Given the description of an element on the screen output the (x, y) to click on. 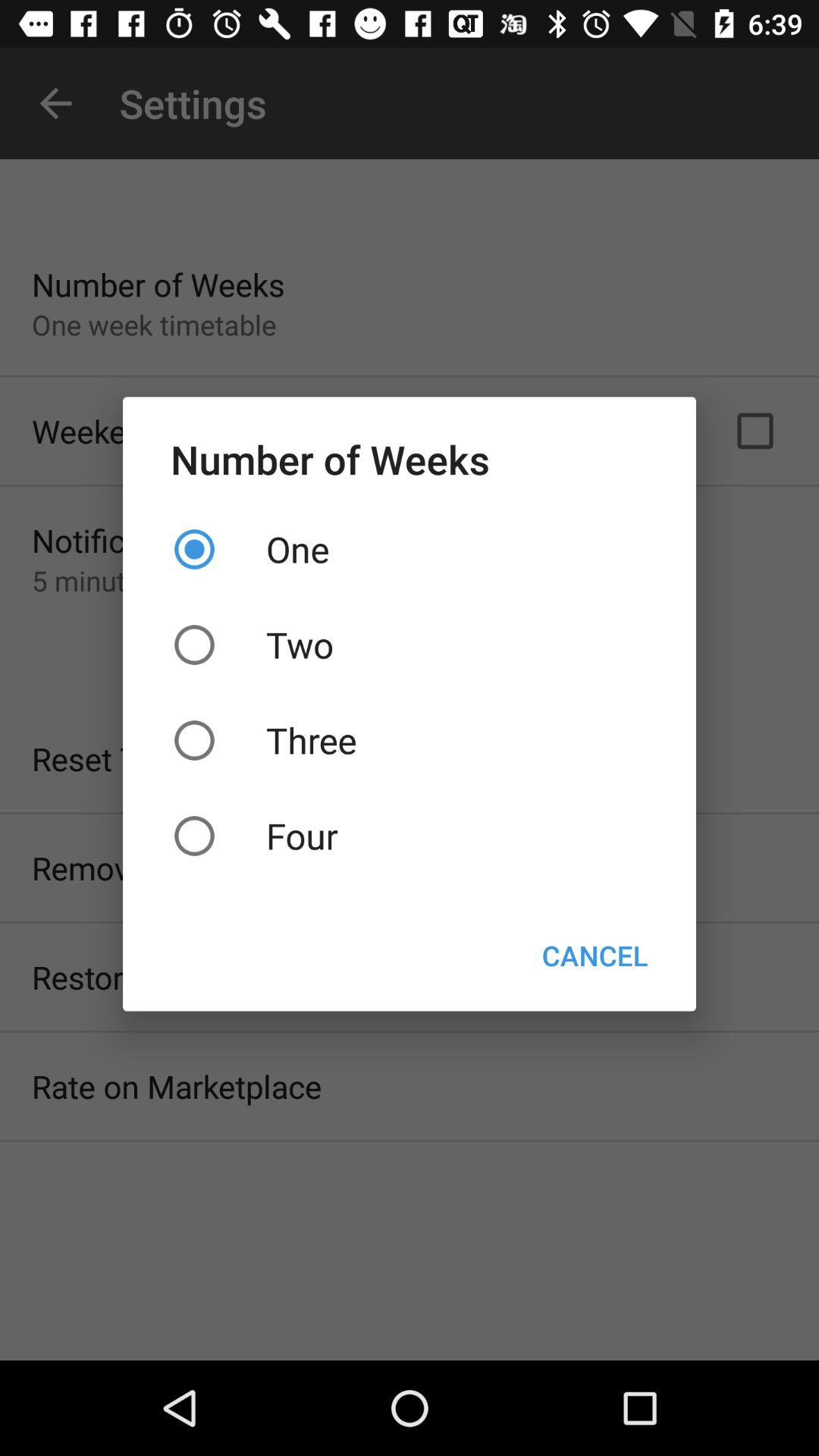
open icon below the four item (595, 955)
